Given the description of an element on the screen output the (x, y) to click on. 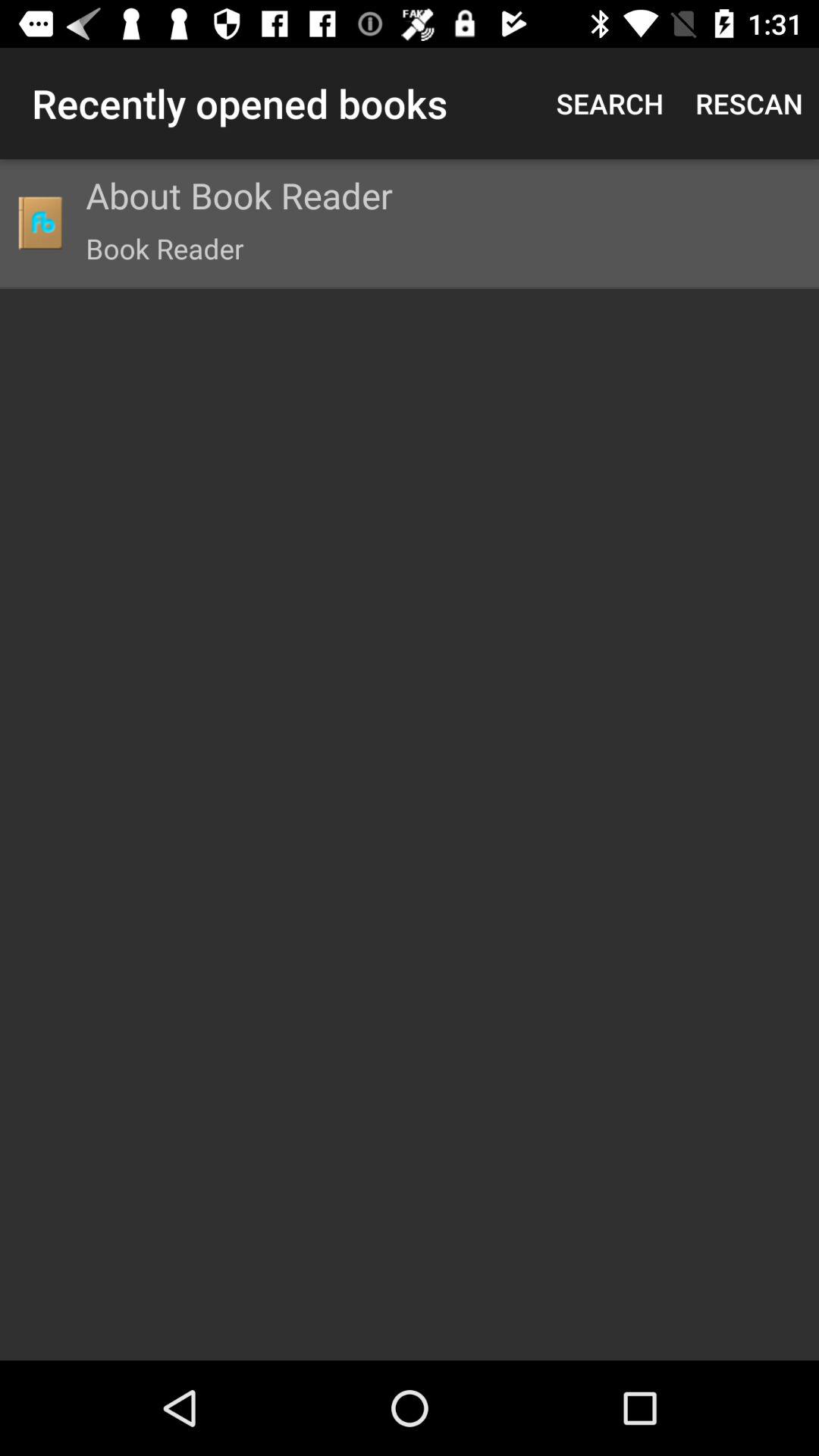
jump until rescan icon (749, 103)
